Given the description of an element on the screen output the (x, y) to click on. 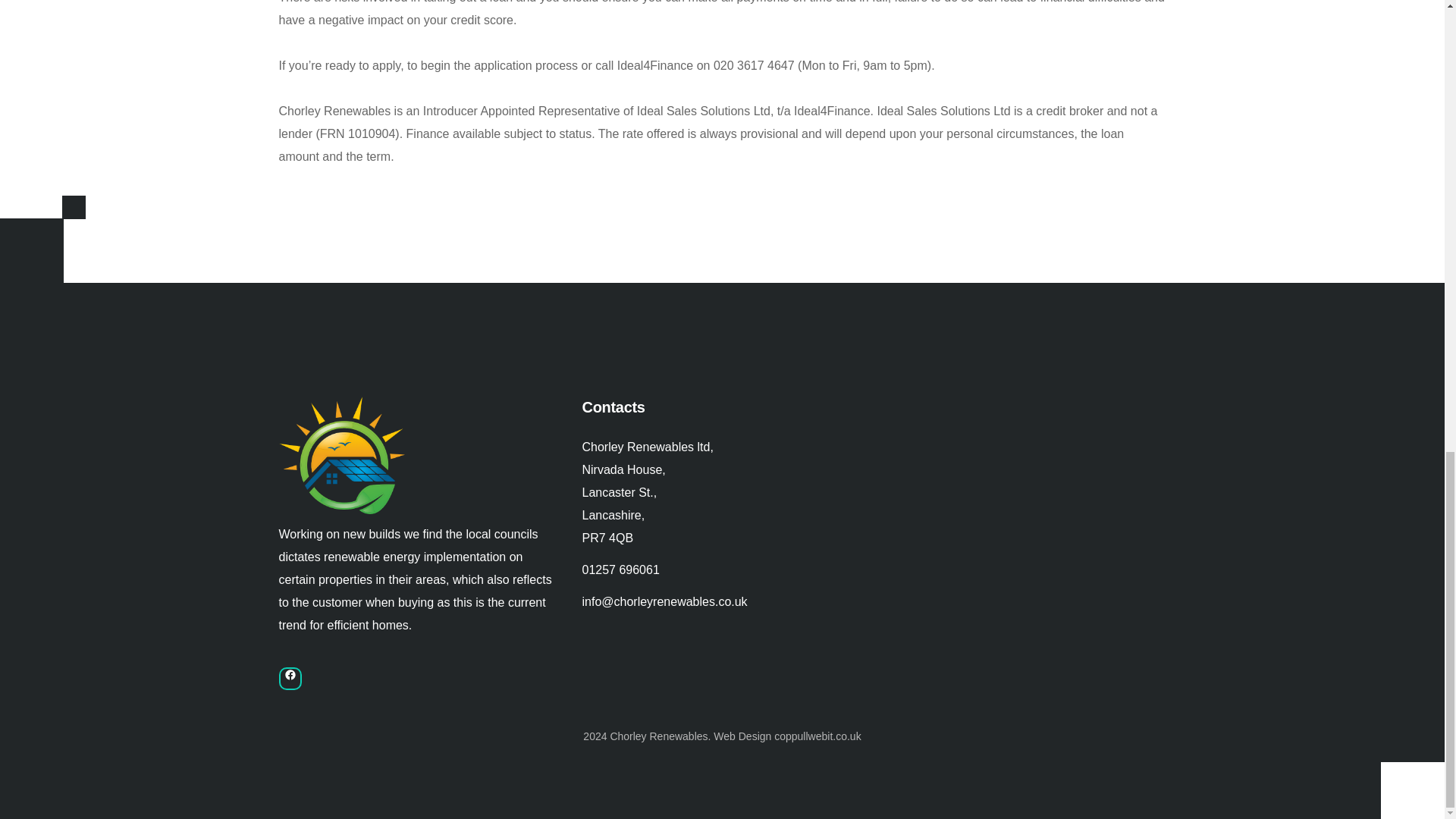
Facebook (290, 680)
